Given the description of an element on the screen output the (x, y) to click on. 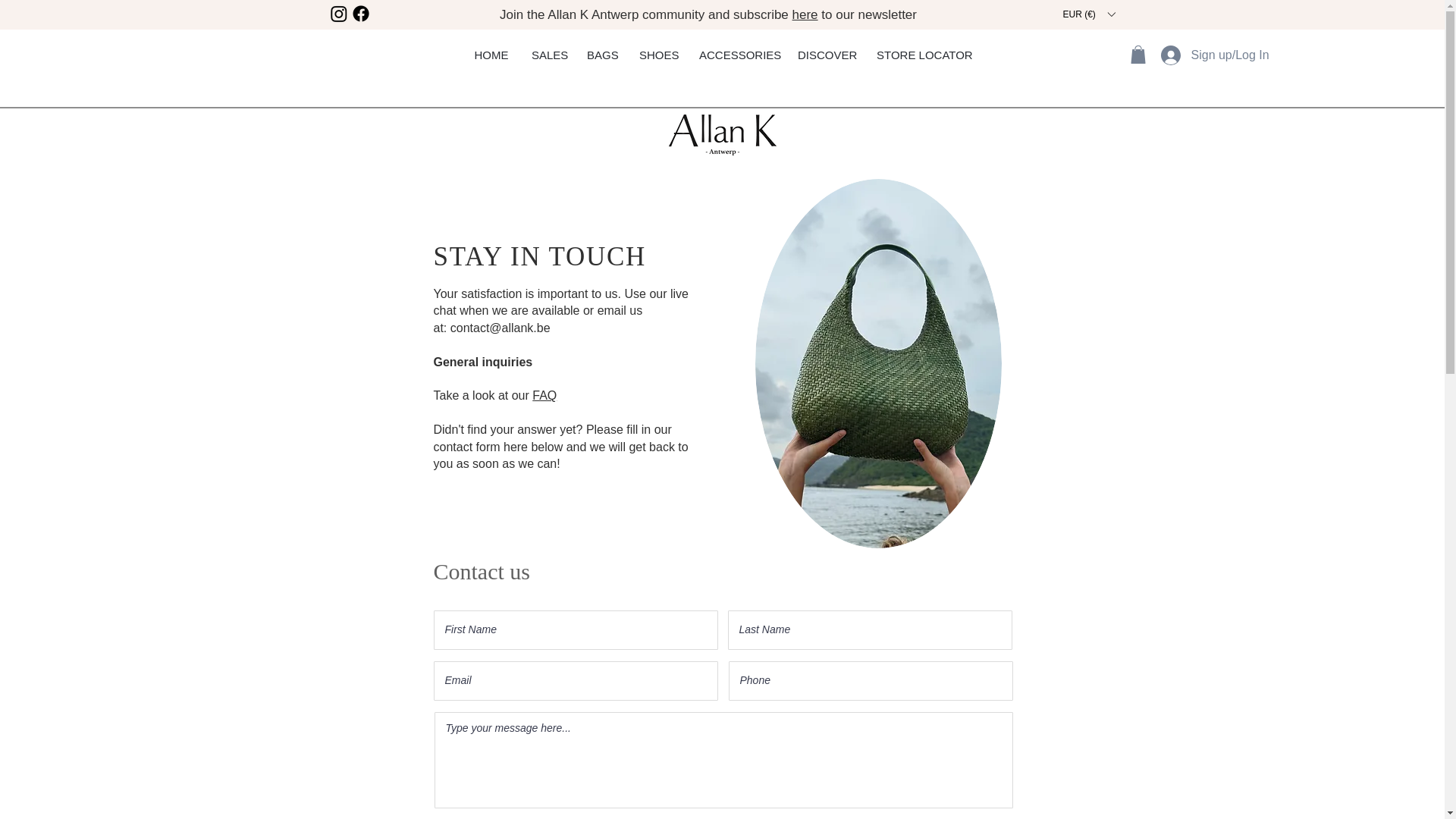
SHOES (657, 54)
FAQ (544, 395)
STORE LOCATOR (922, 54)
BAGS (601, 54)
to our newsletter (867, 14)
SALES (547, 54)
here (805, 14)
HOME (491, 54)
ACCESSORIES (736, 54)
Join the Allan K Antwerp community and subscribe (645, 14)
